Given the description of an element on the screen output the (x, y) to click on. 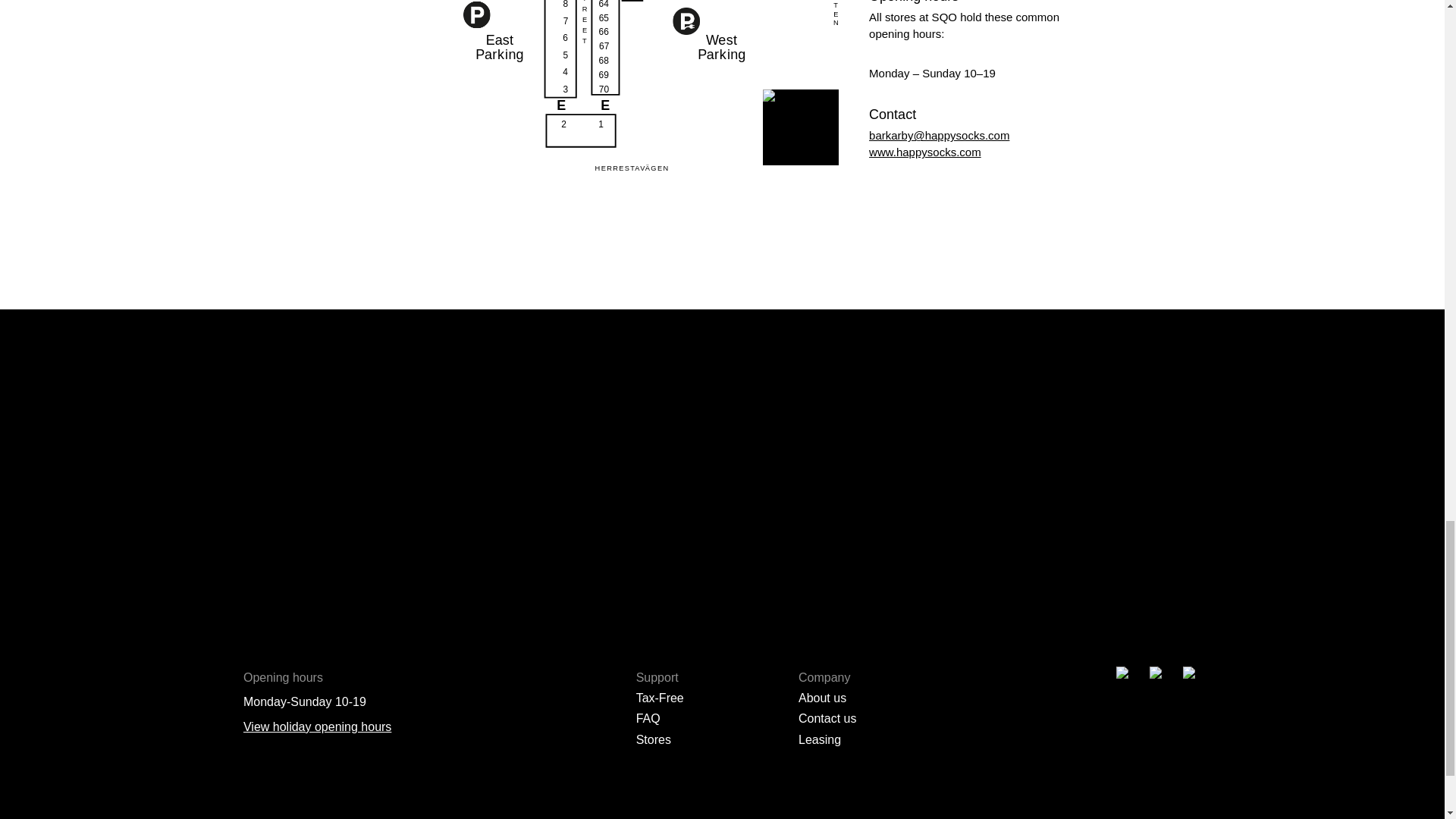
Facebook (880, 235)
Instagram (911, 235)
Google Maps (941, 234)
FAQ (648, 717)
View holiday opening hours (317, 726)
www.happysocks.com (925, 151)
Tax-Free (660, 697)
